Given the description of an element on the screen output the (x, y) to click on. 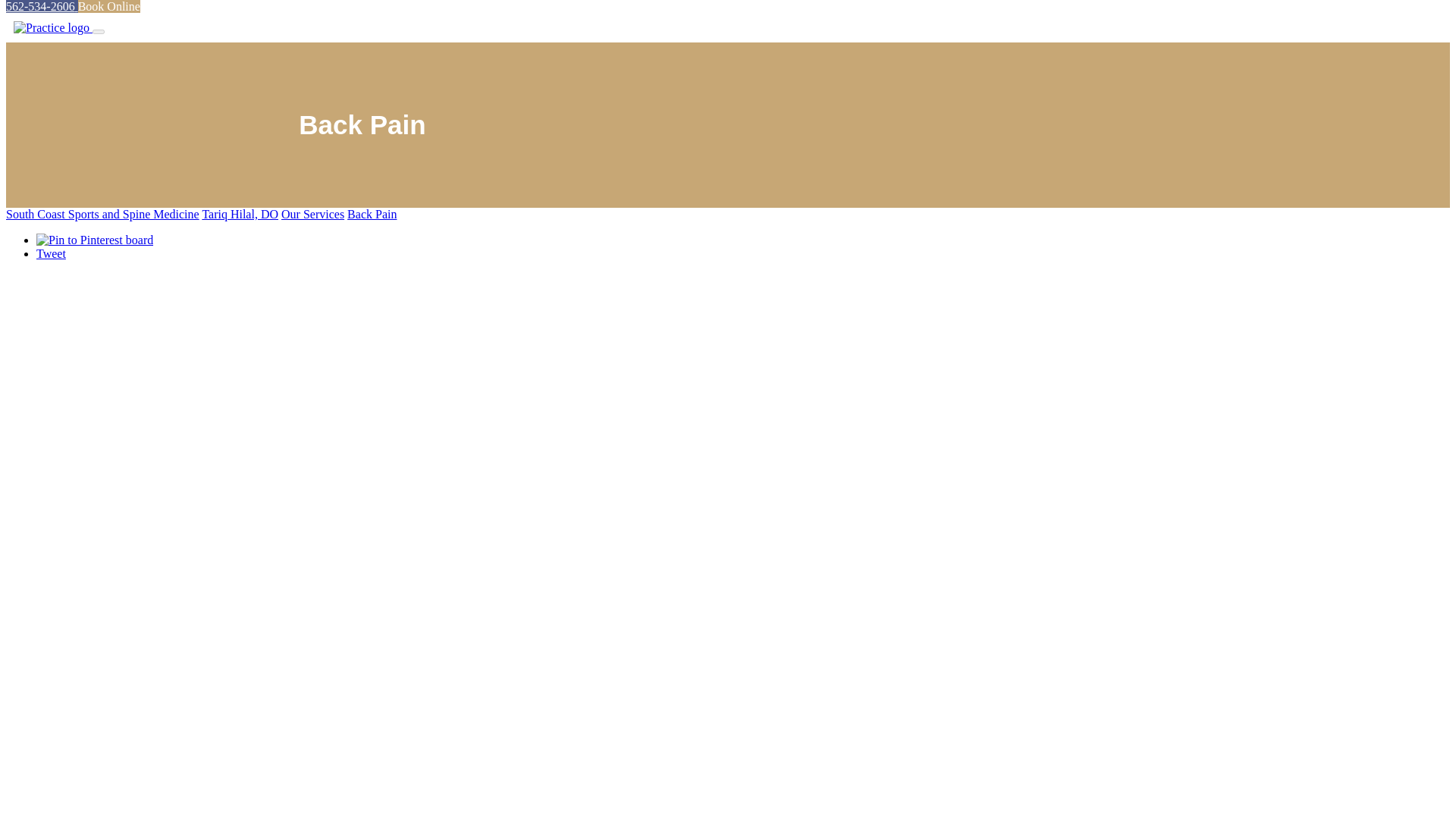
Book Online (108, 6)
Tariq Hilal, DO (240, 214)
South Coast Sports and Spine Medicine (102, 214)
Our Services (312, 214)
Tweet (50, 253)
Back Pain (371, 214)
562-534-2606 (41, 6)
